Given the description of an element on the screen output the (x, y) to click on. 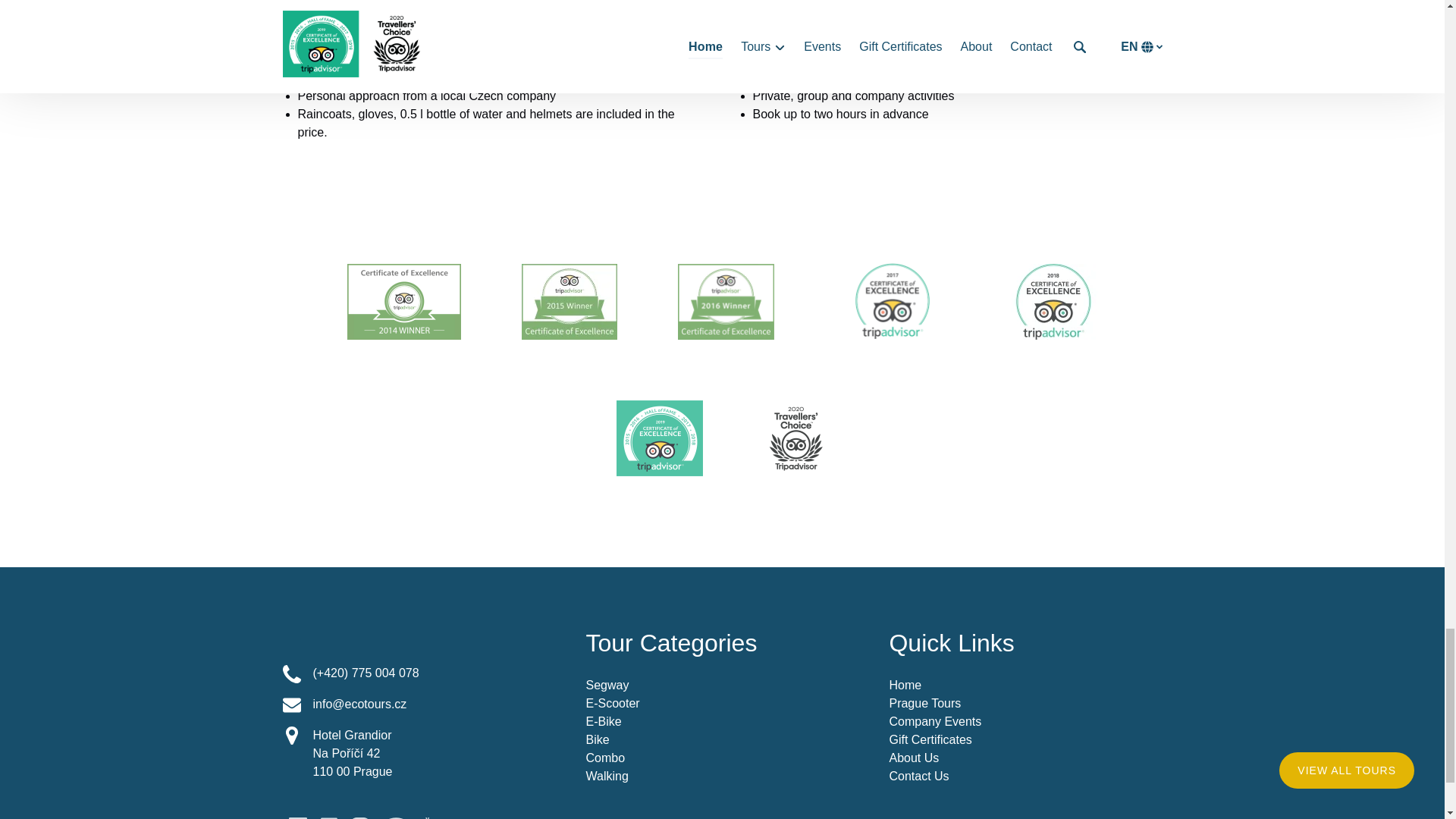
Map Marker (290, 735)
Envelope (290, 705)
Phone (290, 674)
